Given the description of an element on the screen output the (x, y) to click on. 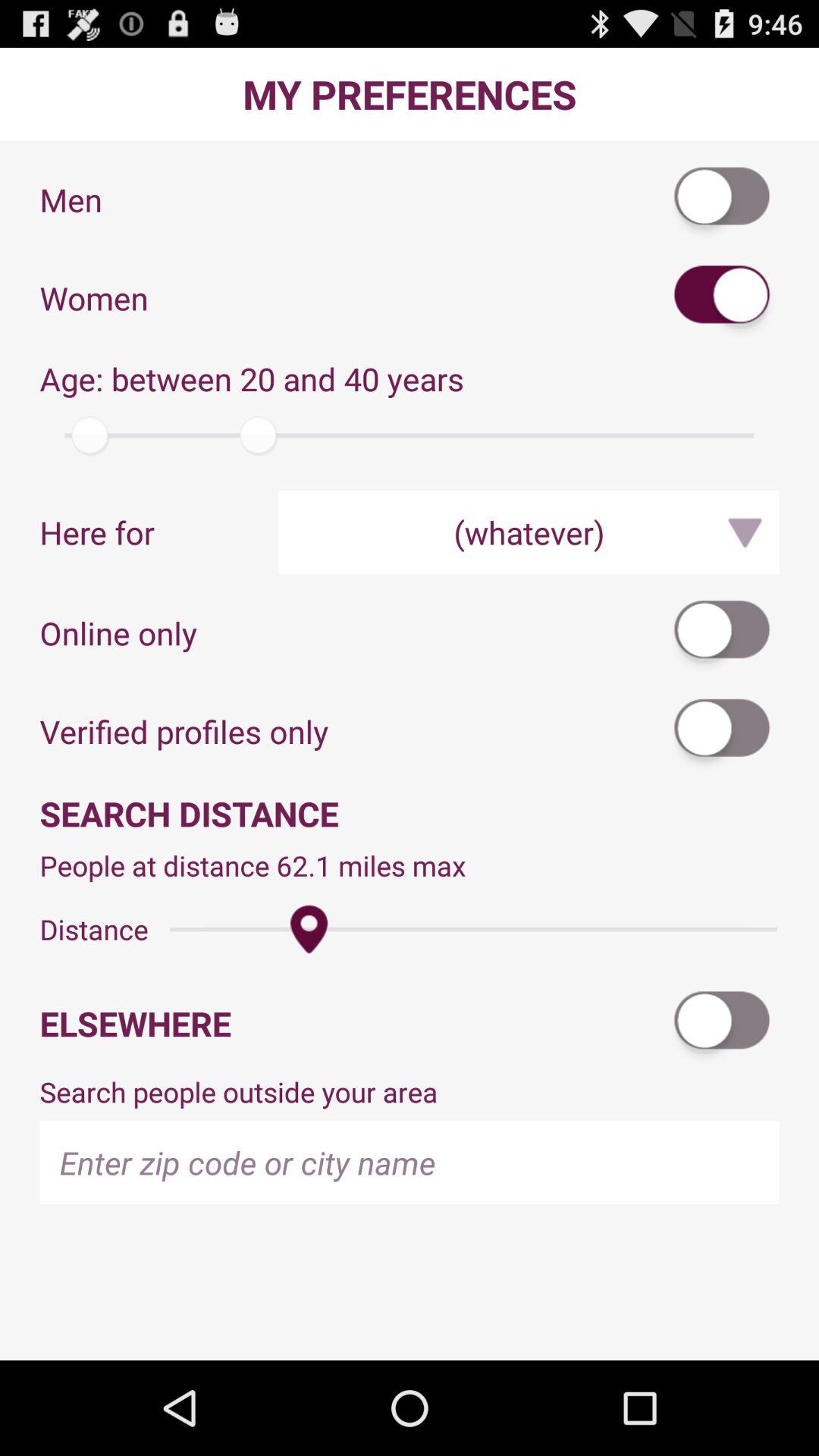
turn off option (722, 1023)
